Given the description of an element on the screen output the (x, y) to click on. 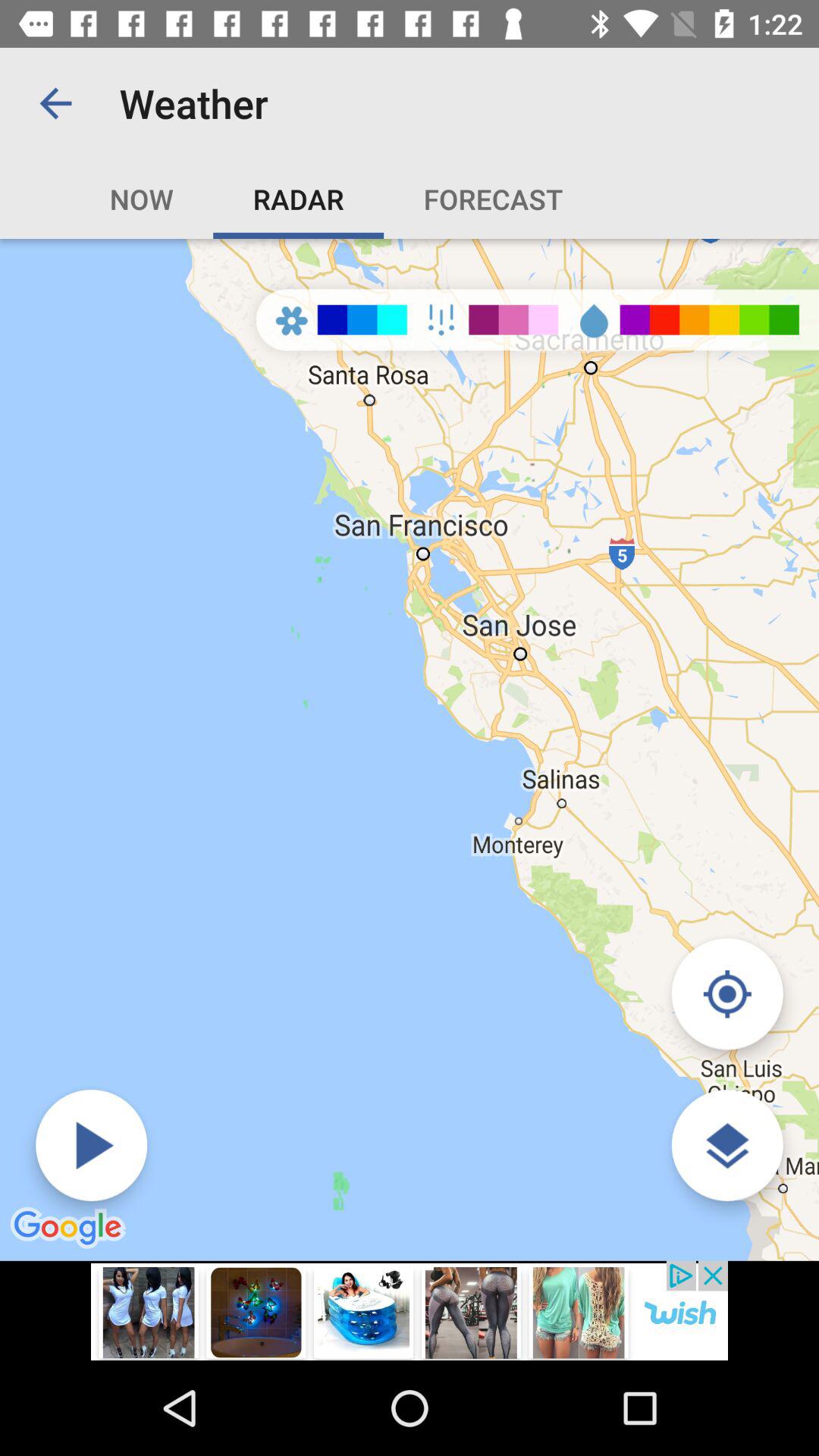
play forecast (91, 1145)
